Given the description of an element on the screen output the (x, y) to click on. 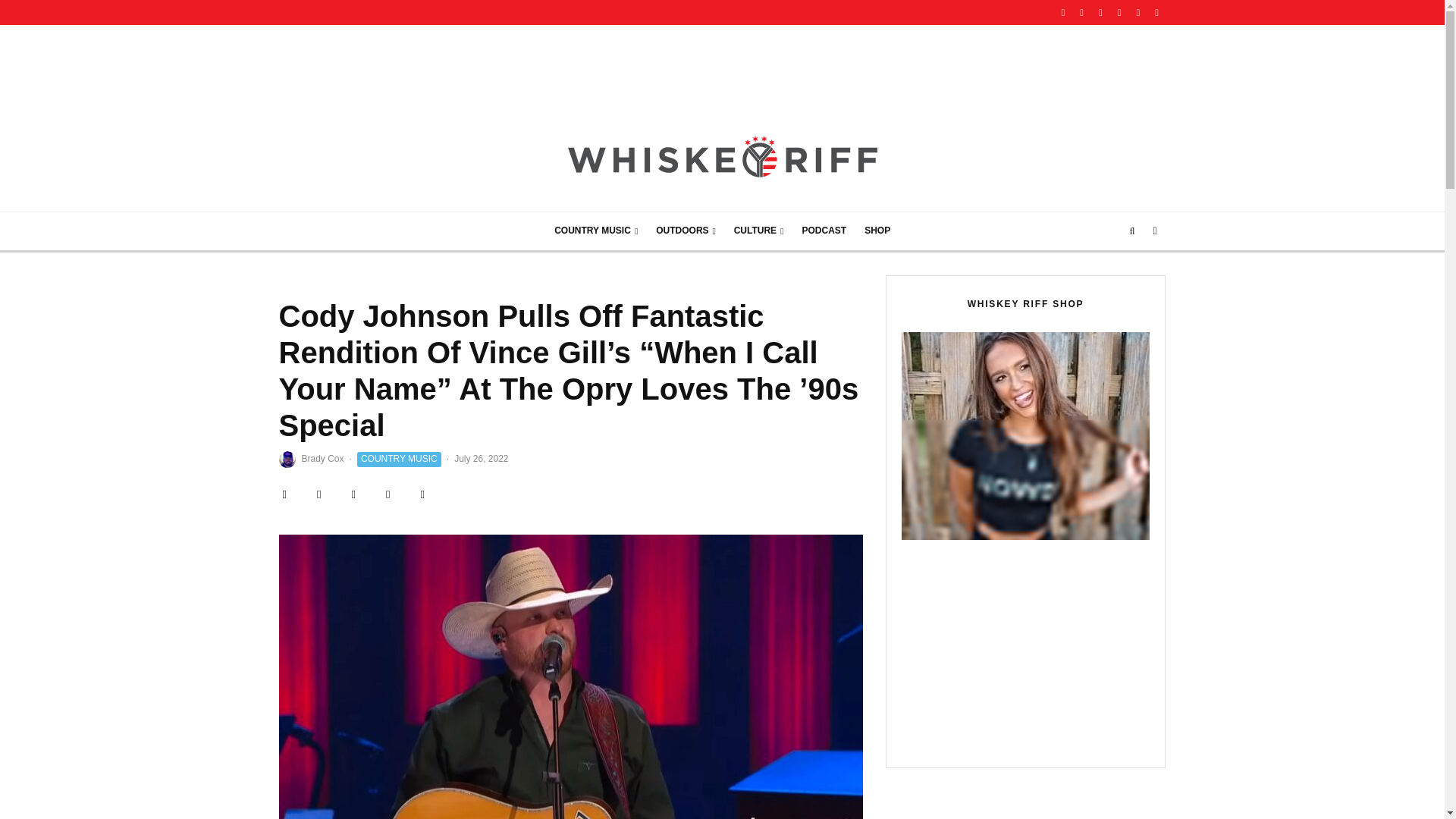
OUTDOORS (685, 231)
COUNTRY MUSIC (595, 231)
CULTURE (759, 231)
